Given the description of an element on the screen output the (x, y) to click on. 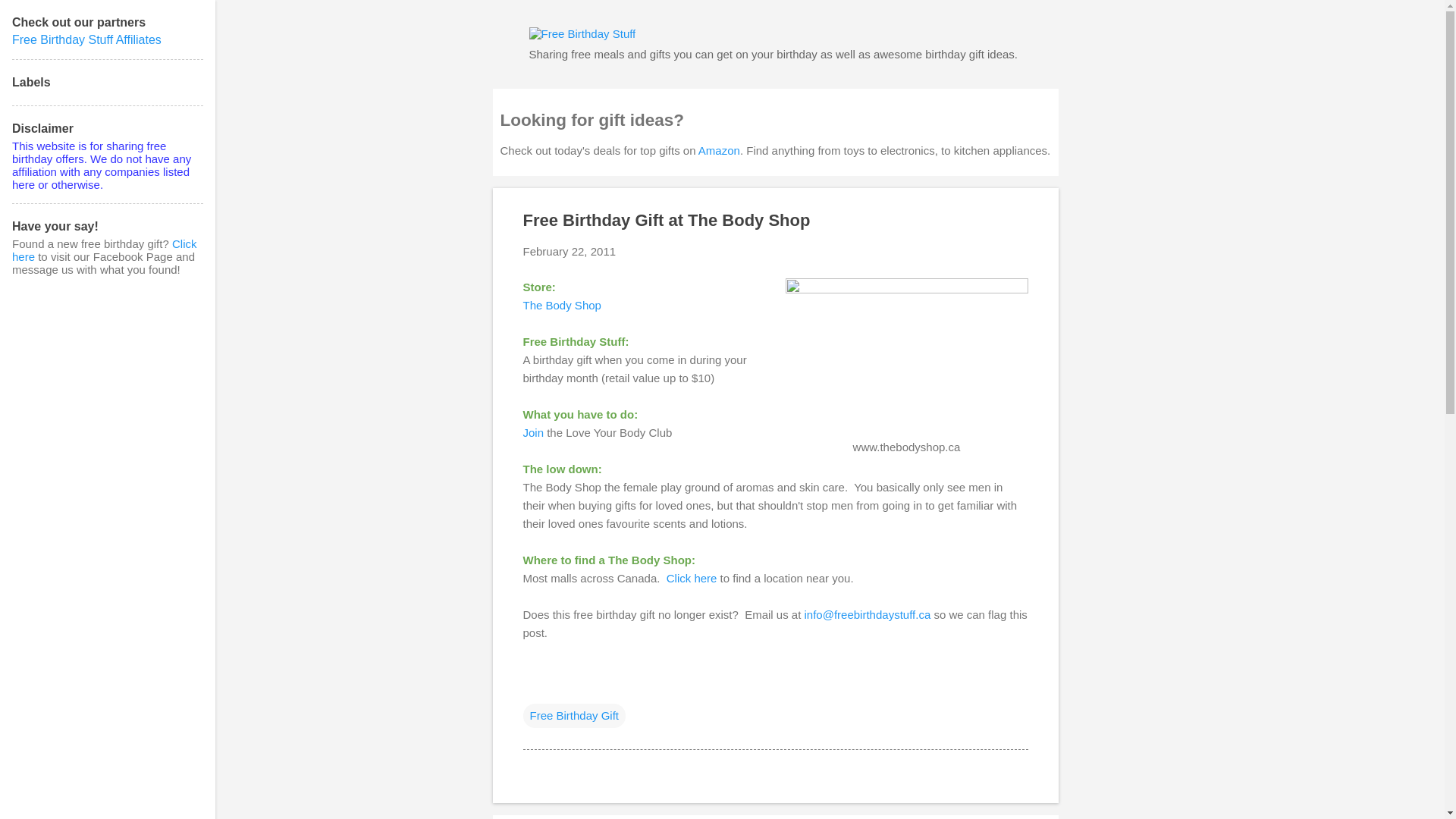
February 22, 2011 (568, 250)
Join (533, 431)
Email Post (531, 684)
Free Birthday Gift (574, 715)
The Body Shop (561, 305)
Click here (691, 577)
Search (29, 18)
permanent link (568, 250)
Free Birthday Stuff Affiliates (86, 39)
Amazon (718, 150)
